Given the description of an element on the screen output the (x, y) to click on. 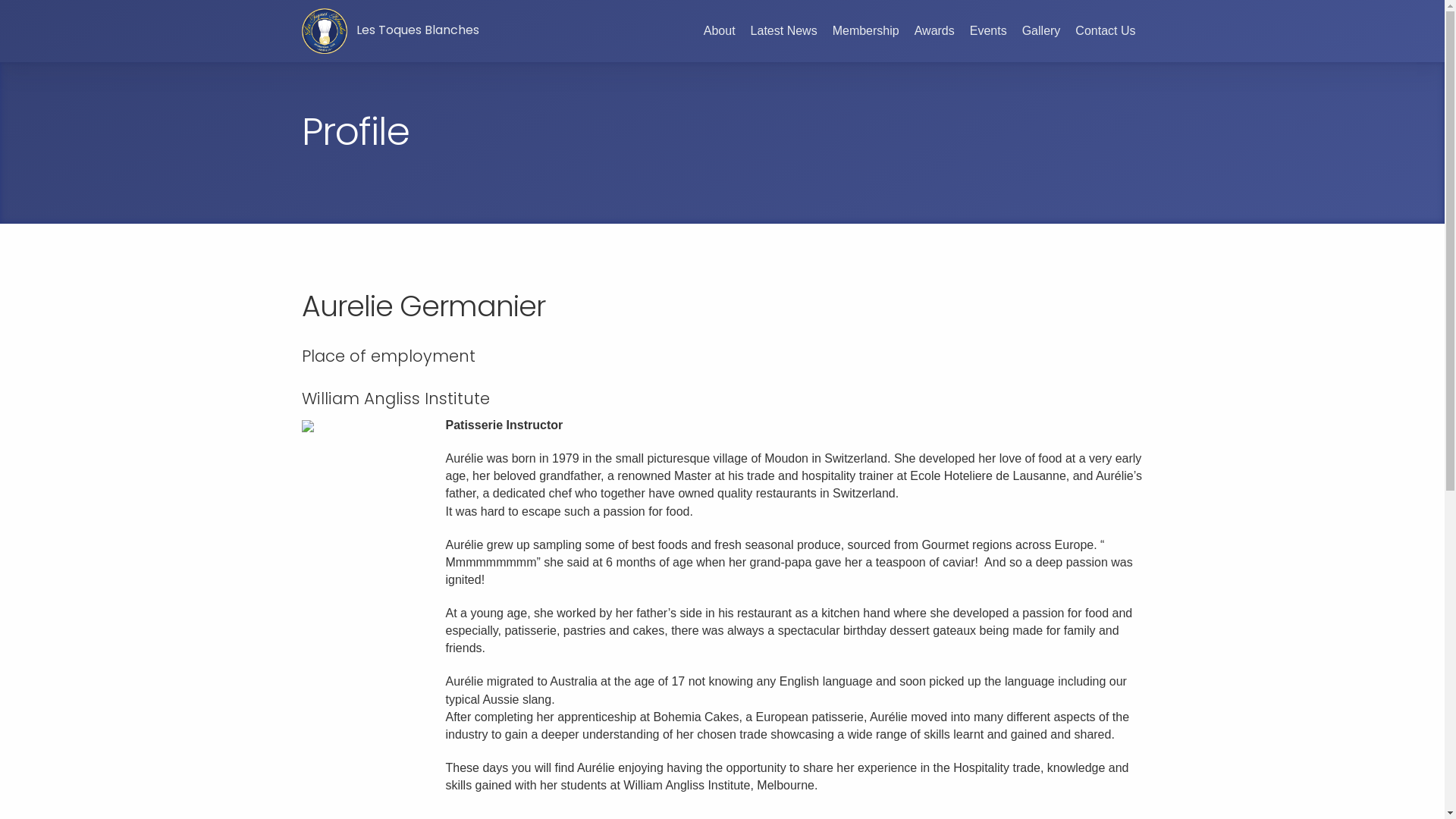
Latest News Element type: text (784, 30)
Gallery Element type: text (1041, 30)
Events Element type: text (988, 30)
About Element type: text (719, 30)
Les Toques Blanches Element type: text (390, 30)
Membership Element type: text (865, 30)
Contact Us Element type: text (1104, 30)
Awards Element type: text (934, 30)
